Given the description of an element on the screen output the (x, y) to click on. 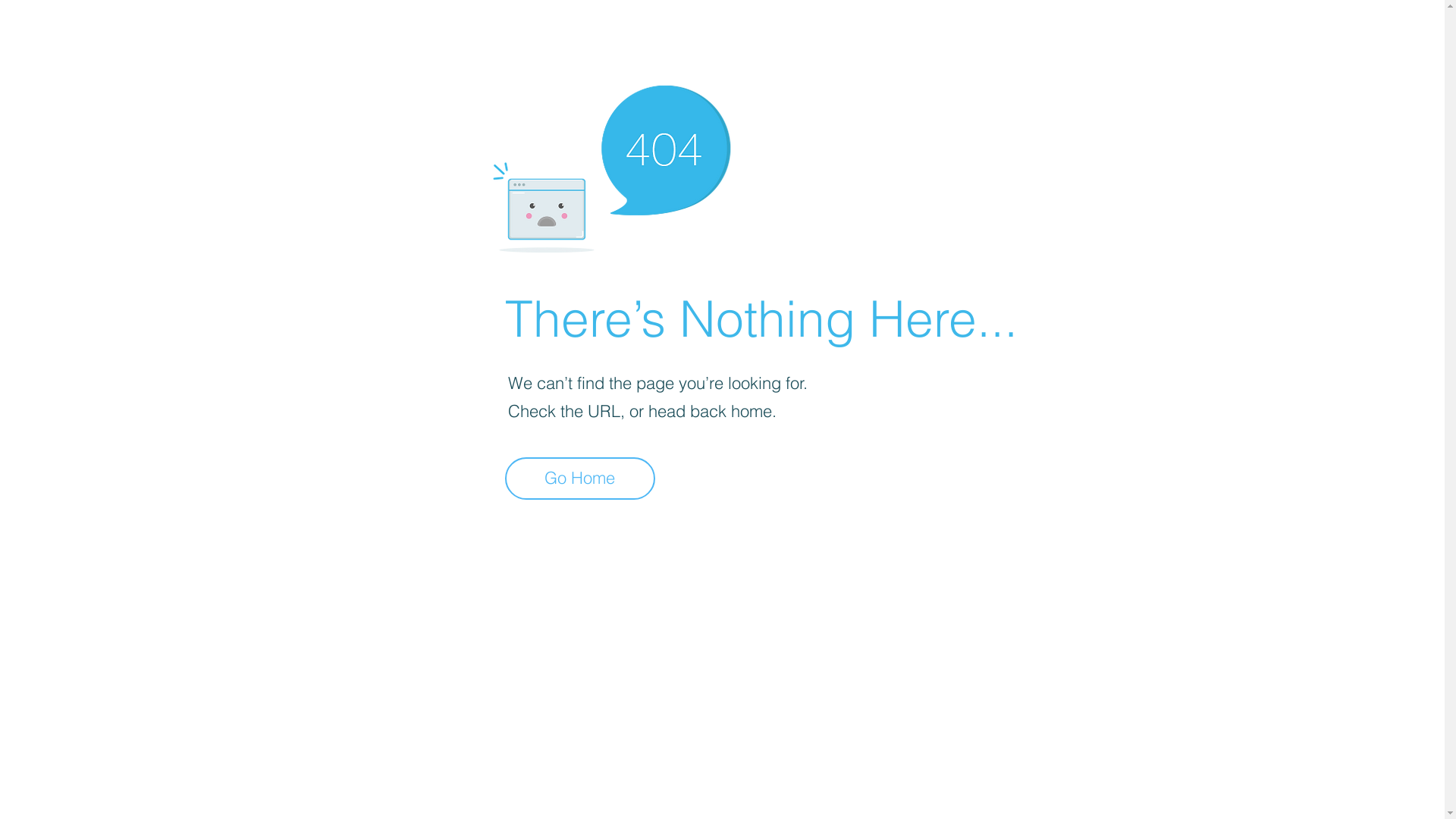
Go Home Element type: text (580, 478)
404-icon_2.png Element type: hover (610, 164)
